Given the description of an element on the screen output the (x, y) to click on. 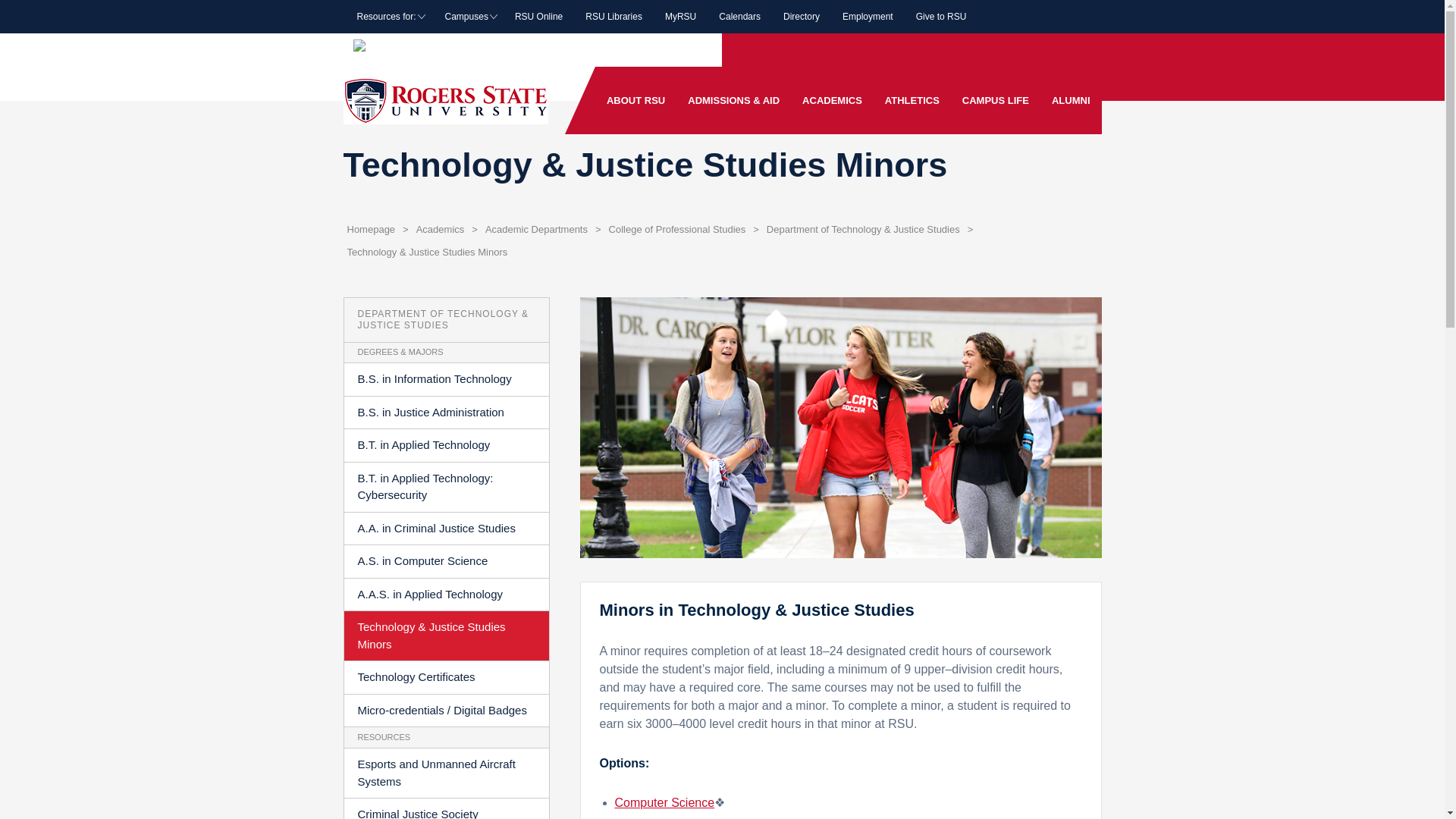
RSU Online (538, 16)
Homepage (370, 229)
Give to RSU (941, 16)
Calendars (739, 16)
Directory (801, 16)
College of Professional Studies (677, 229)
Academic Departments (536, 229)
MyRSU (680, 16)
ABOUT RSU (636, 100)
RSU Libraries (613, 16)
